Given the description of an element on the screen output the (x, y) to click on. 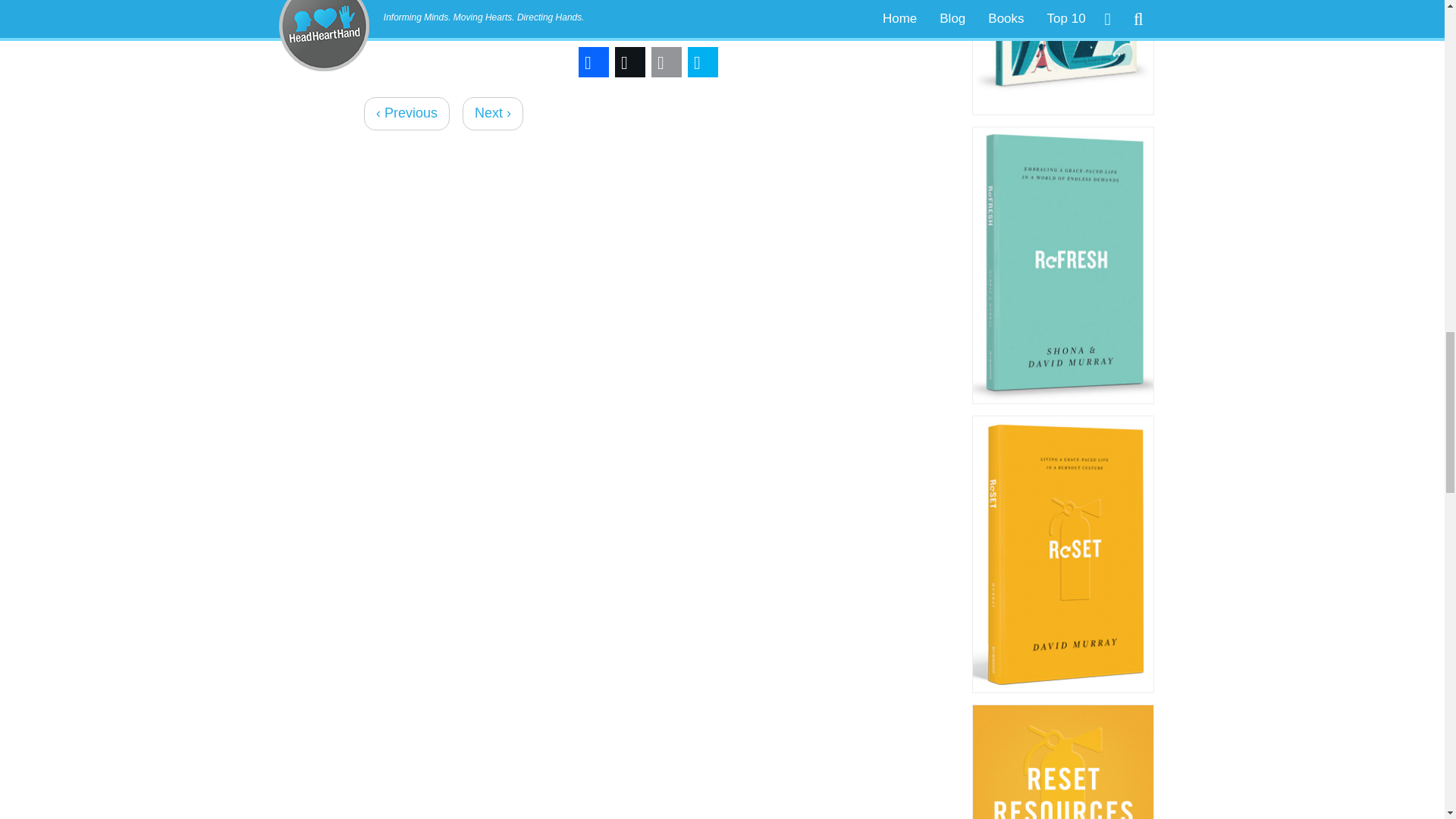
The Gospel Coalition (673, 13)
Monday Morning Motivation (461, 13)
Facebook (593, 62)
Vimeo (796, 13)
PrintFriendly (702, 62)
Email This (665, 62)
